Given the description of an element on the screen output the (x, y) to click on. 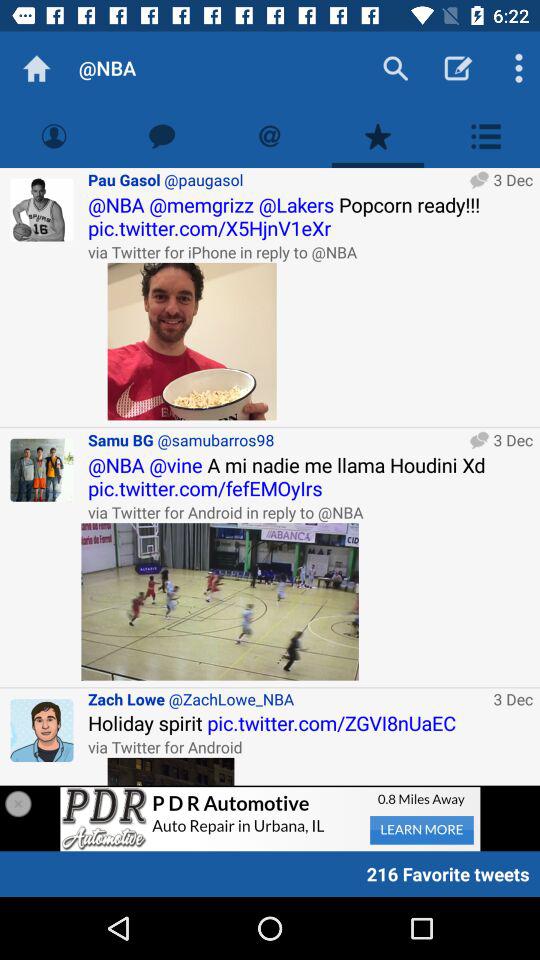
open the app to the left of the @nba (36, 68)
